Given the description of an element on the screen output the (x, y) to click on. 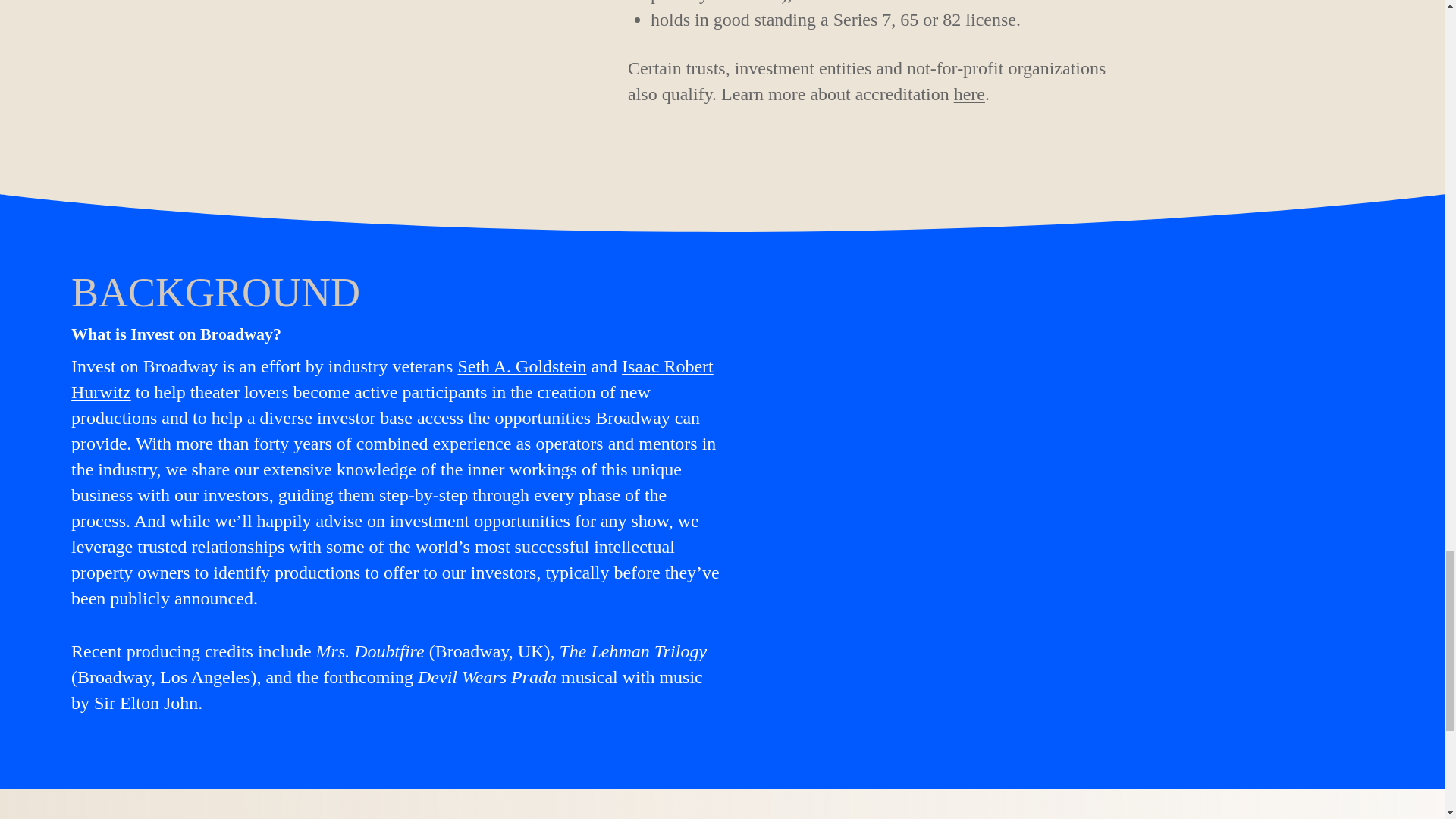
Isaac Robert Hurwitz (392, 379)
here (969, 94)
Seth A. Goldstein (521, 365)
